Given the description of an element on the screen output the (x, y) to click on. 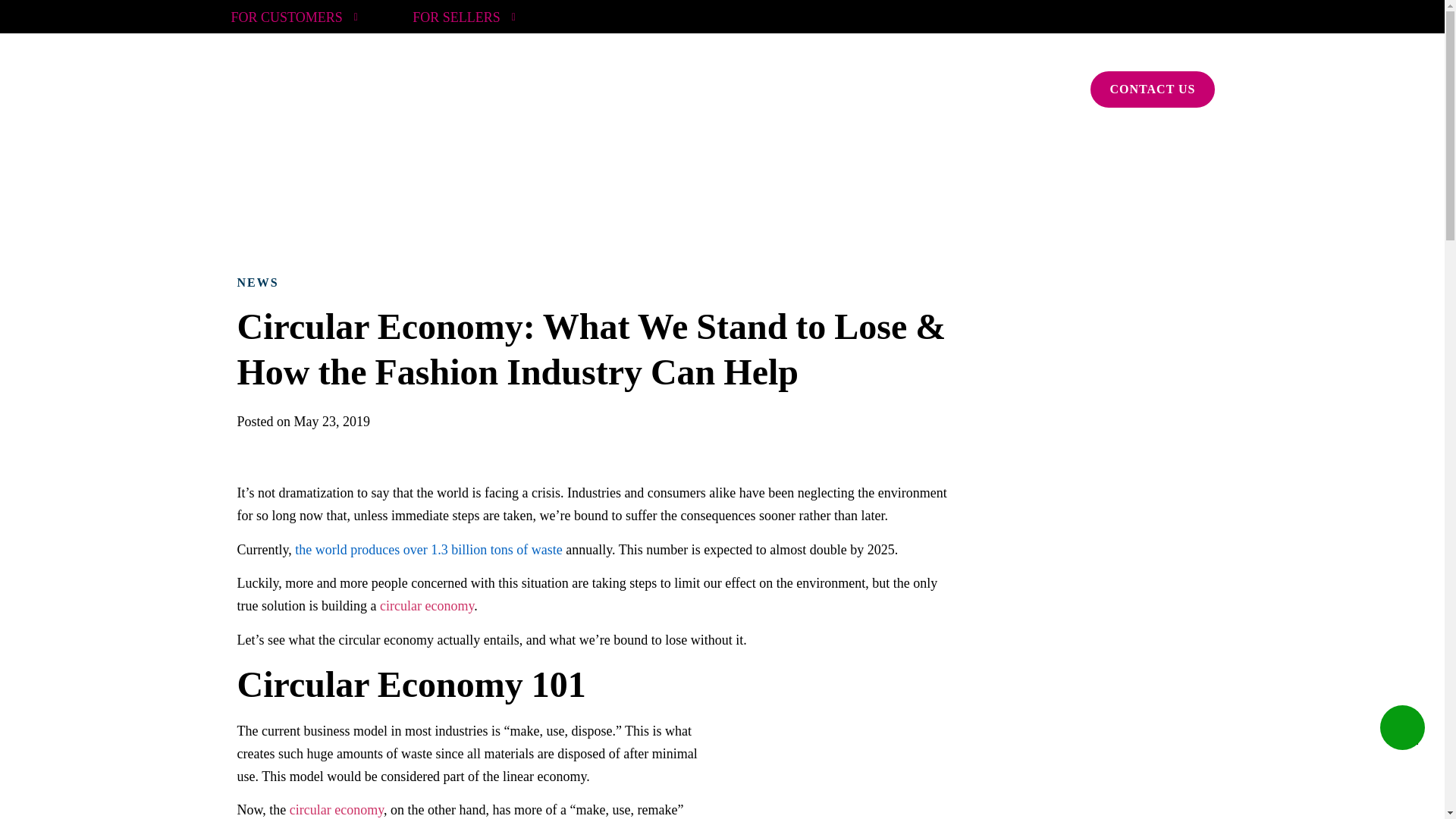
SERVICES (637, 86)
FOR SELLERS (466, 16)
LEARN (901, 86)
ABOUT (719, 86)
FOR CUSTOMERS (297, 16)
OUR IMPACT (810, 86)
PRODUCTS (542, 86)
